Given the description of an element on the screen output the (x, y) to click on. 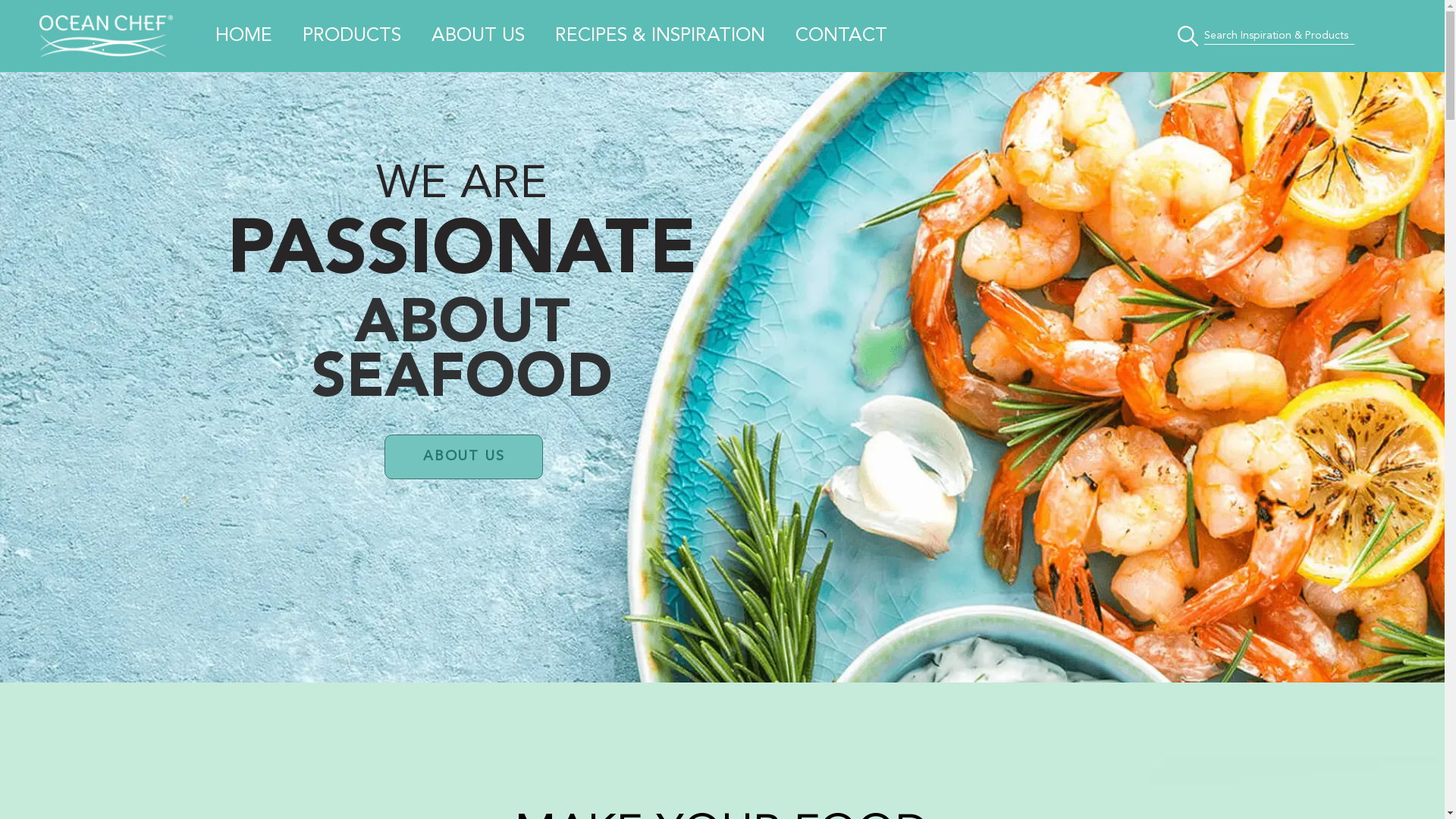
PRODUCTS Element type: text (351, 35)
ABOUT US Element type: text (477, 35)
CONTACT Element type: text (841, 35)
RECIPES & INSPIRATION Element type: text (660, 35)
HOME Element type: text (243, 35)
ABOUT US Element type: text (463, 456)
